Given the description of an element on the screen output the (x, y) to click on. 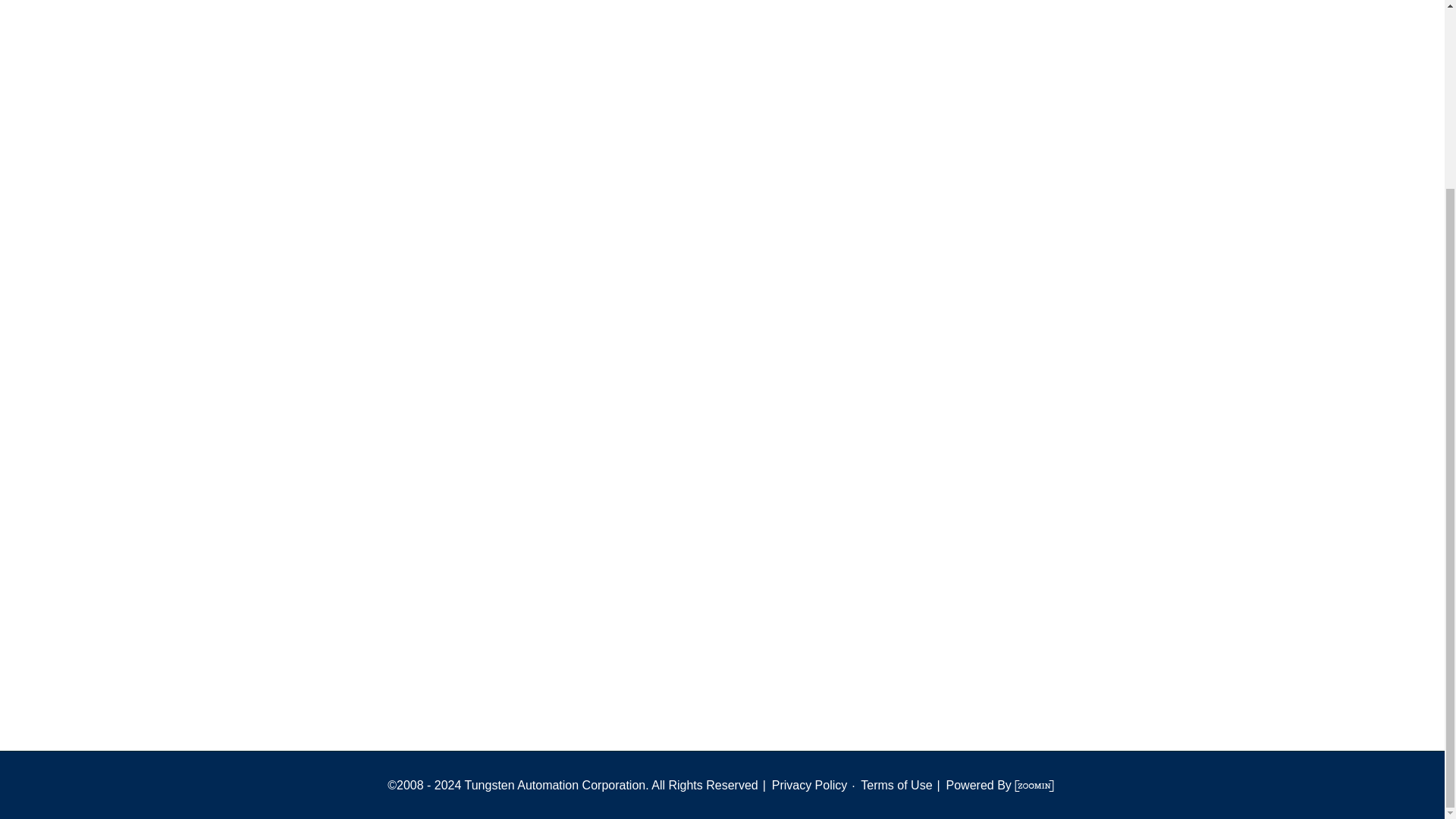
Terms of Use (892, 784)
Privacy Policy (809, 784)
